Given the description of an element on the screen output the (x, y) to click on. 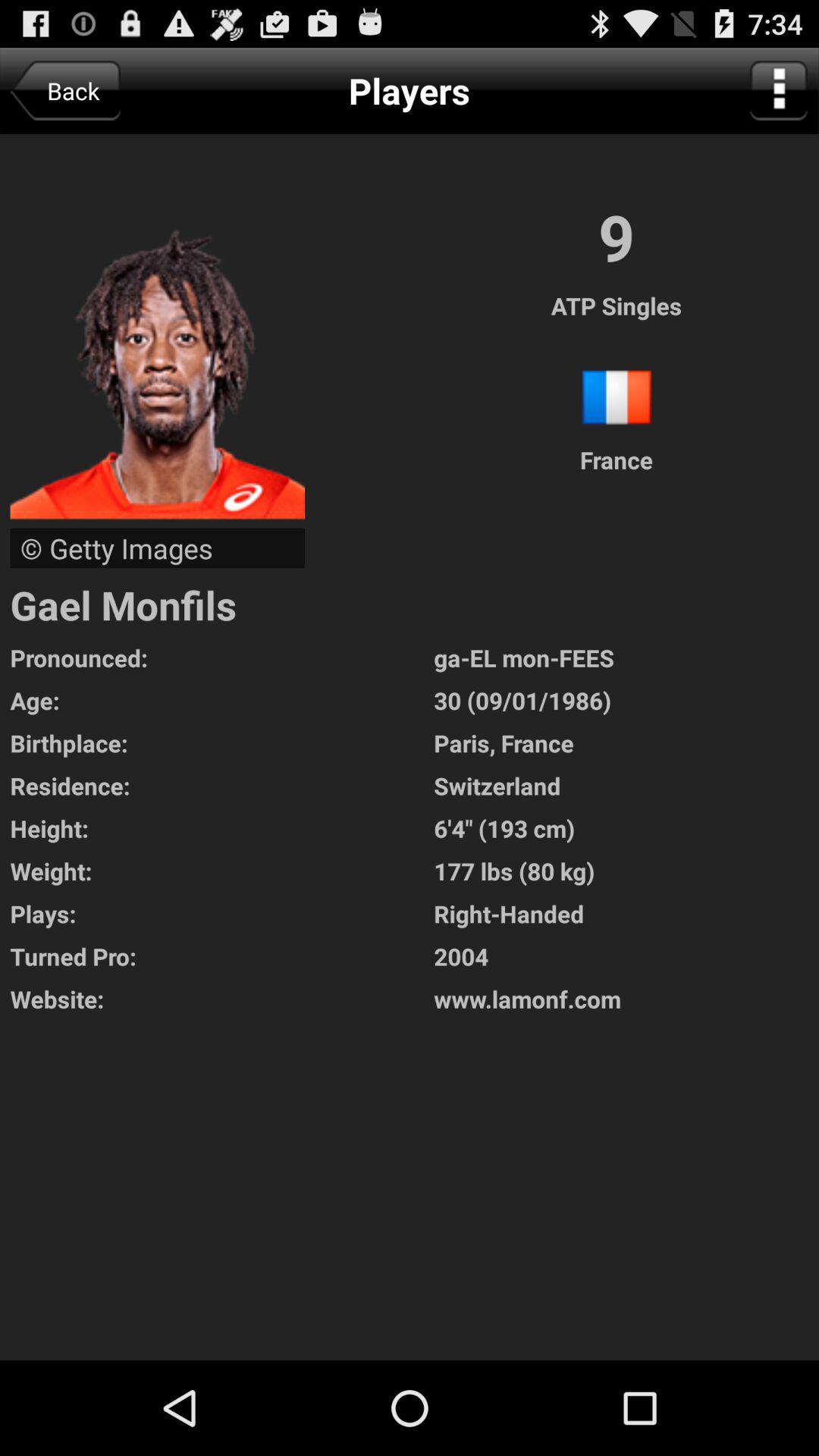
press the paris, france item (626, 742)
